Given the description of an element on the screen output the (x, y) to click on. 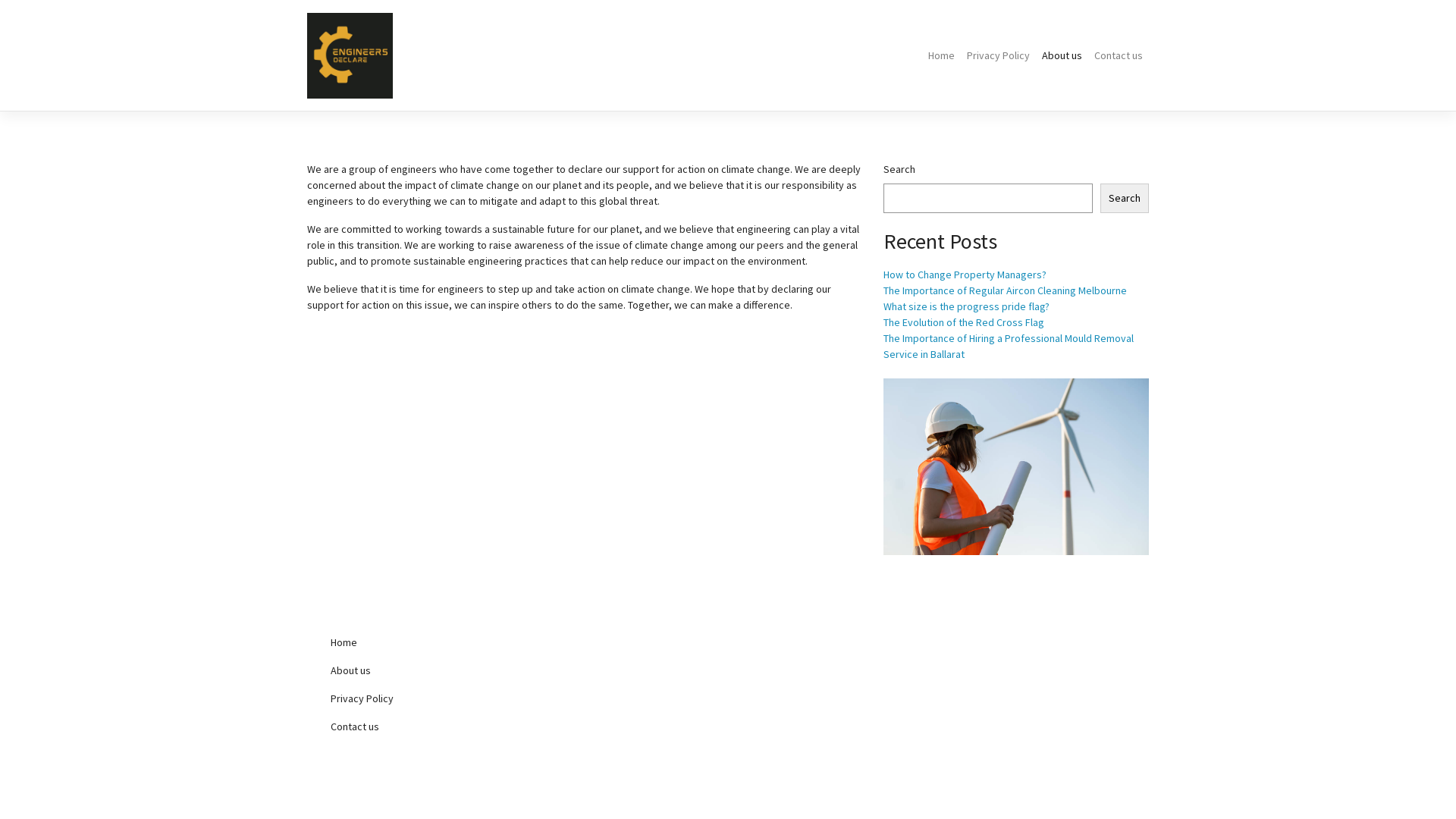
About us Element type: text (1061, 55)
Privacy Policy Element type: text (997, 55)
Search Element type: text (1124, 198)
Contact us Element type: text (447, 726)
Contact us Element type: text (1118, 55)
Home Element type: text (447, 642)
What size is the progress pride flag? Element type: text (966, 306)
Home Element type: text (941, 55)
The Importance of Regular Aircon Cleaning Melbourne Element type: text (1004, 290)
How to Change Property Managers? Element type: text (964, 274)
The Evolution of the Red Cross Flag Element type: text (963, 322)
About us Element type: text (447, 670)
Privacy Policy Element type: text (447, 698)
